Given the description of an element on the screen output the (x, y) to click on. 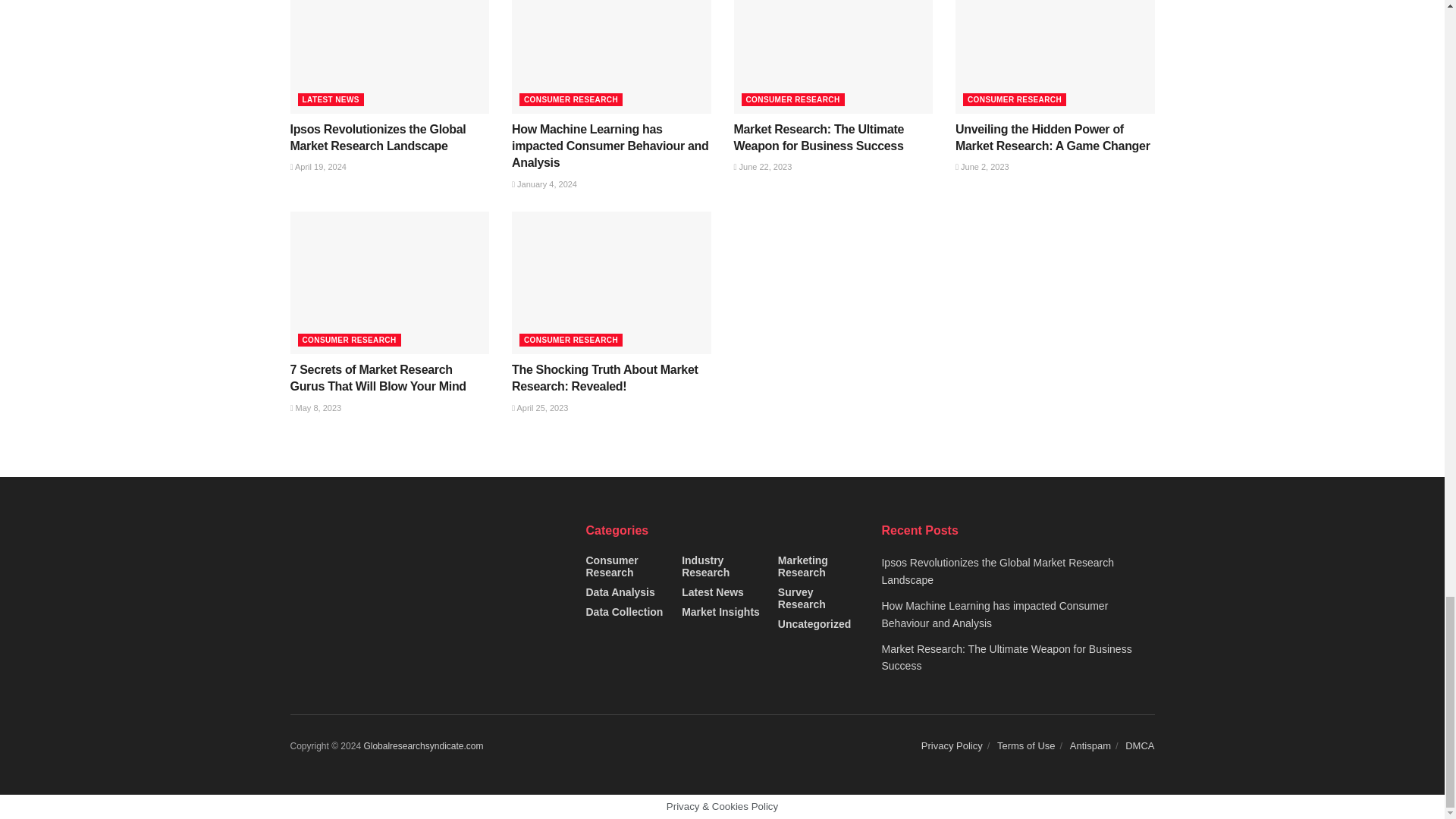
globalresearchsyndicate.com (422, 746)
